Given the description of an element on the screen output the (x, y) to click on. 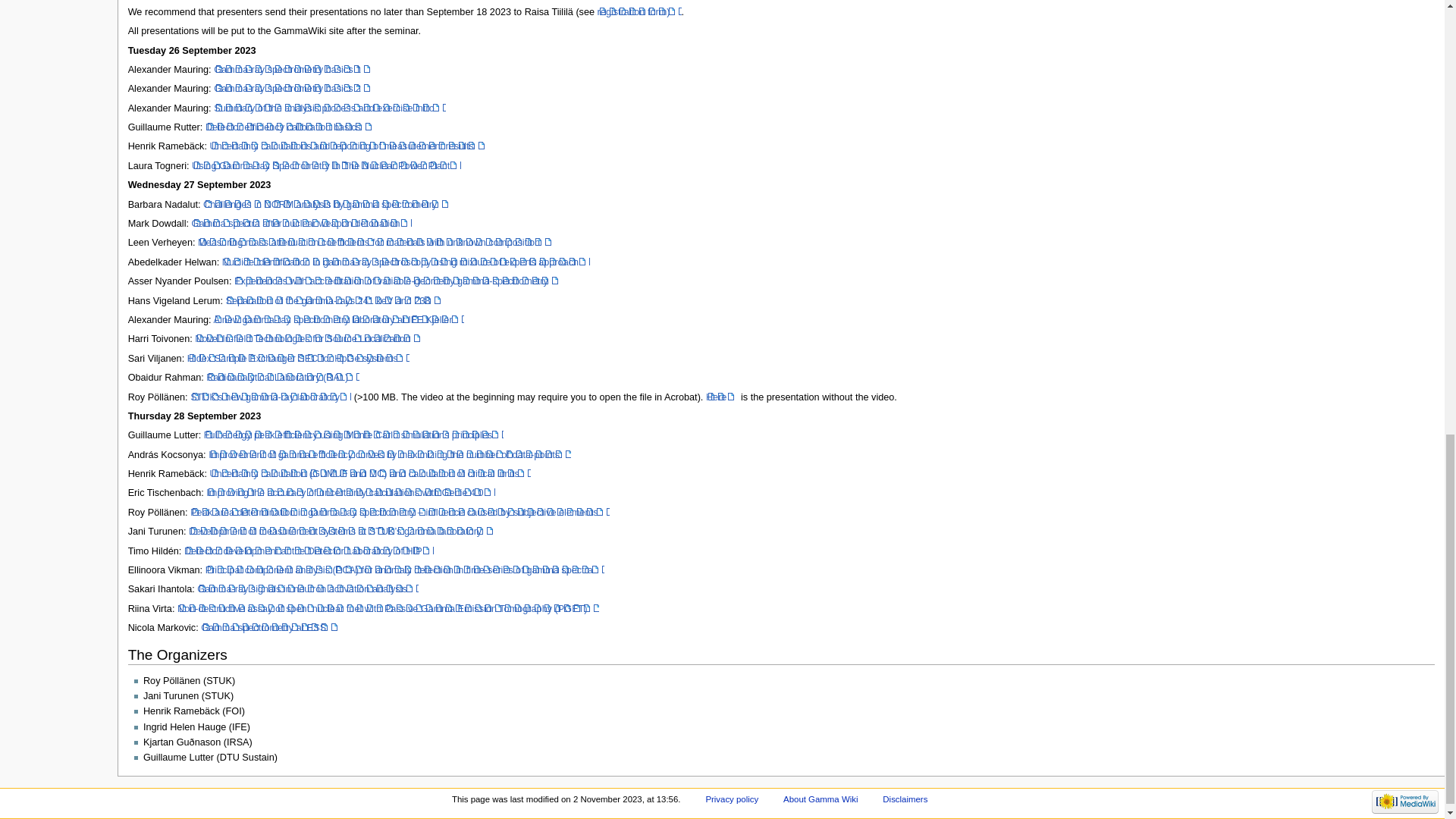
Gamma spectra after nuclear weapon detonation (302, 223)
Using Gamma-ray Spectrometry In The Nuclear Power Plant (326, 165)
Gamma-ray spectrometry basics 2 (293, 88)
Summary of the analysis process and exercise intro (329, 108)
Detector efficiency calibration basics (288, 127)
Separation of the gamma-rays 241 keV and 238 (333, 300)
A new gamma-ray spectrometry laboratory at IFE Kjeller (337, 319)
Gamma-ray spectrometry basics 1 (293, 69)
Challenges in NORM analysis by gamma spectrometry (325, 204)
